Given the description of an element on the screen output the (x, y) to click on. 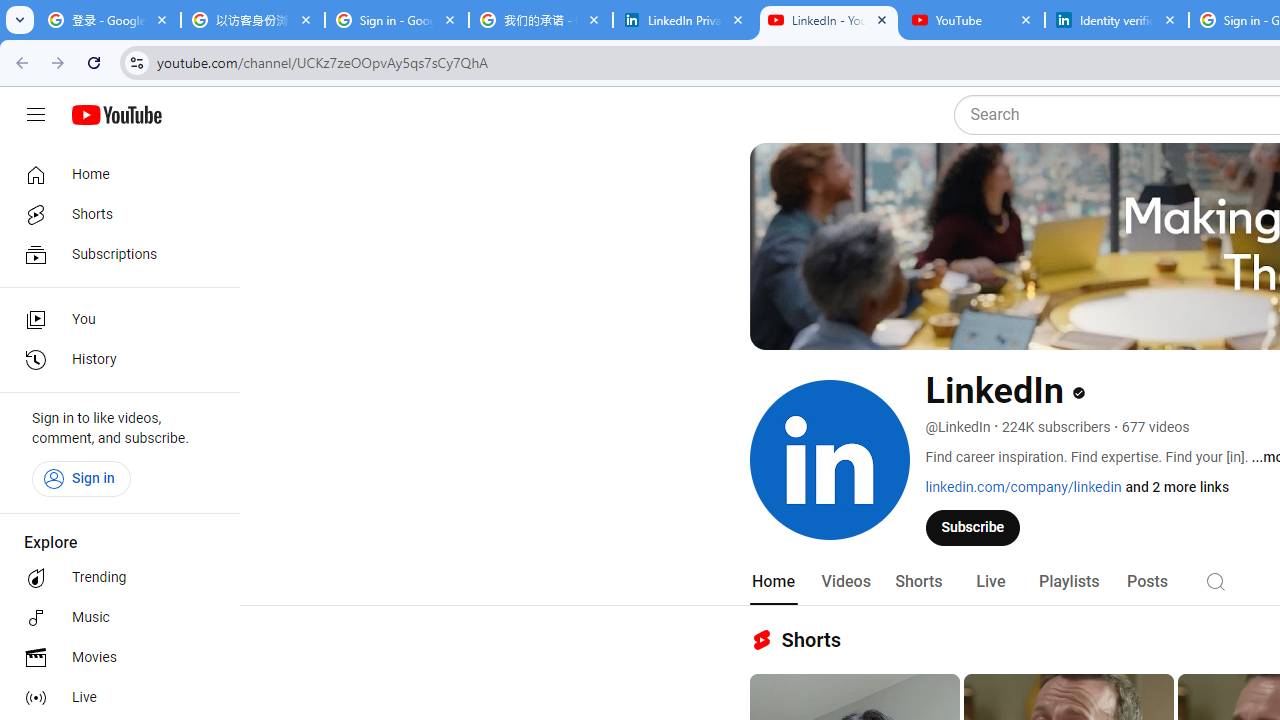
linkedin.com/company/linkedin (1023, 487)
Shorts (113, 214)
Live (990, 581)
Posts (1147, 581)
Back (19, 62)
Search (1215, 580)
